Given the description of an element on the screen output the (x, y) to click on. 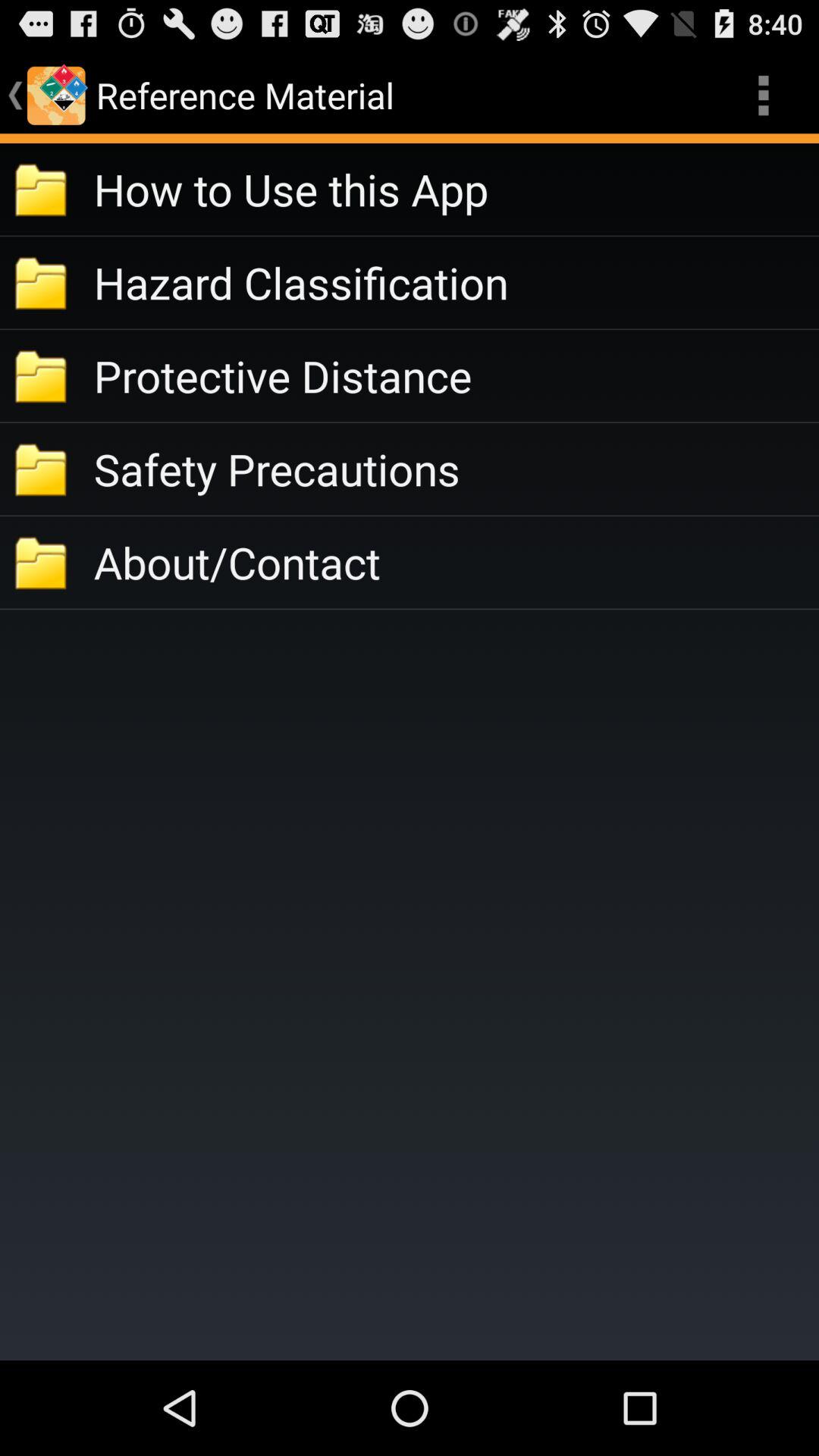
choose icon above the safety precautions app (456, 375)
